Given the description of an element on the screen output the (x, y) to click on. 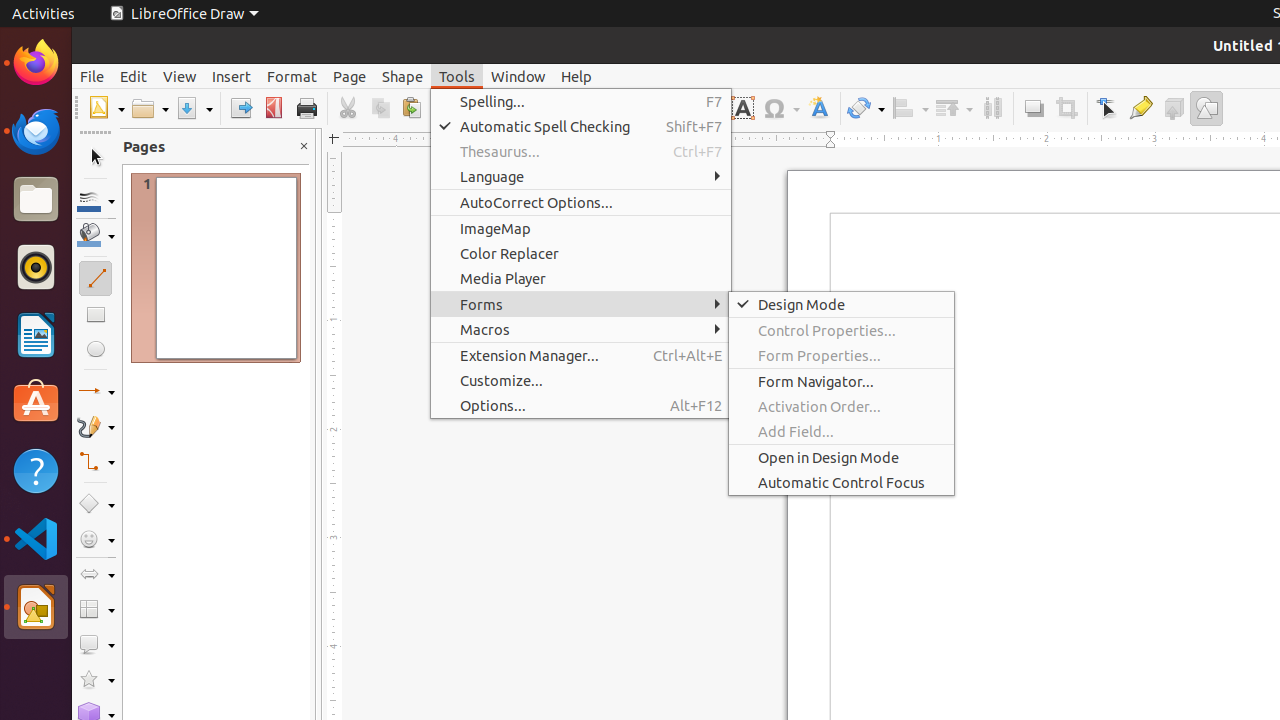
Spelling... Element type: menu-item (581, 101)
Open in Design Mode Element type: check-menu-item (841, 457)
Edit Points Element type: push-button (1107, 108)
Form Properties... Element type: menu-item (841, 355)
